Given the description of an element on the screen output the (x, y) to click on. 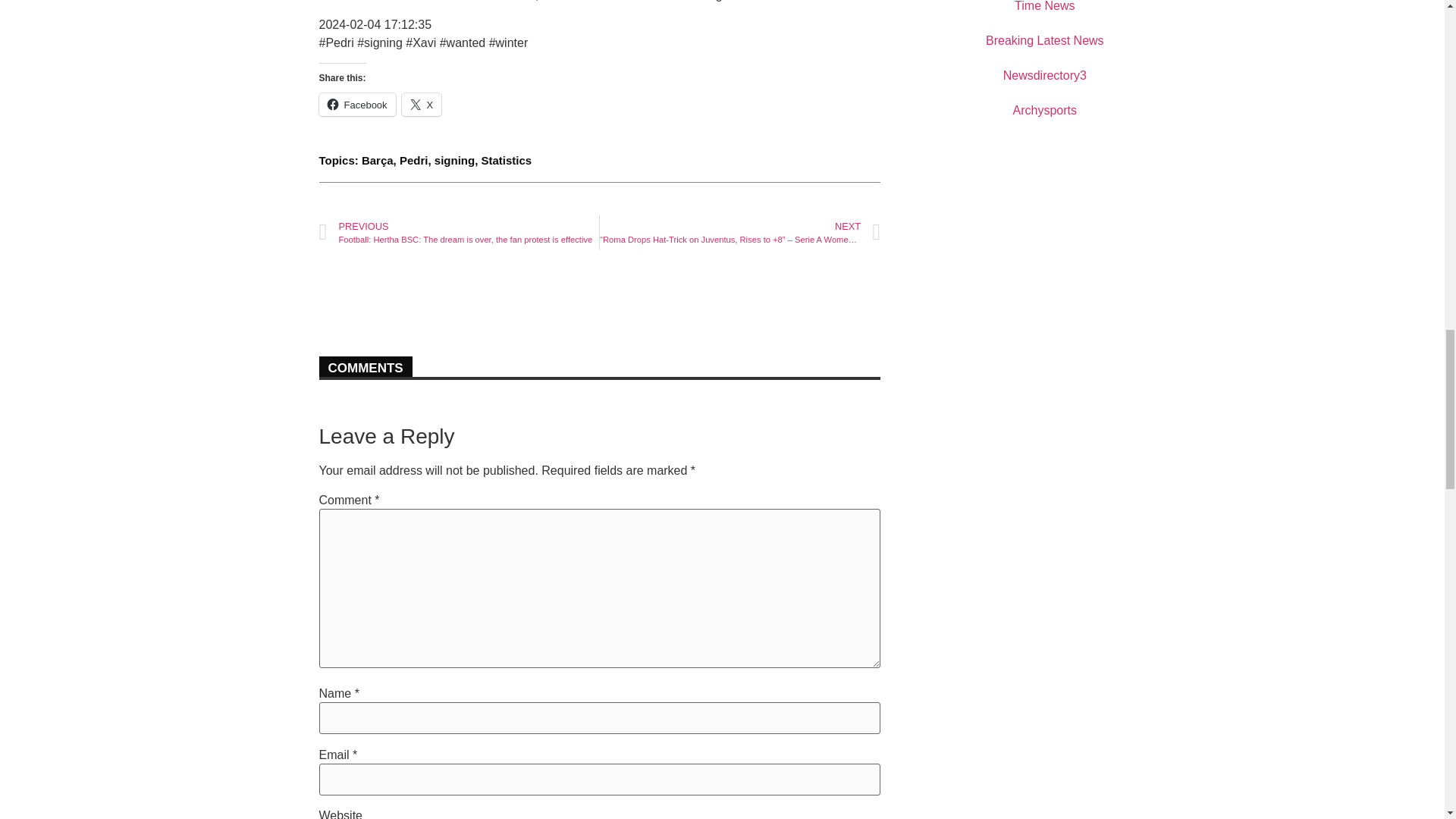
Click to share on X (421, 104)
Click to share on Facebook (356, 104)
